Given the description of an element on the screen output the (x, y) to click on. 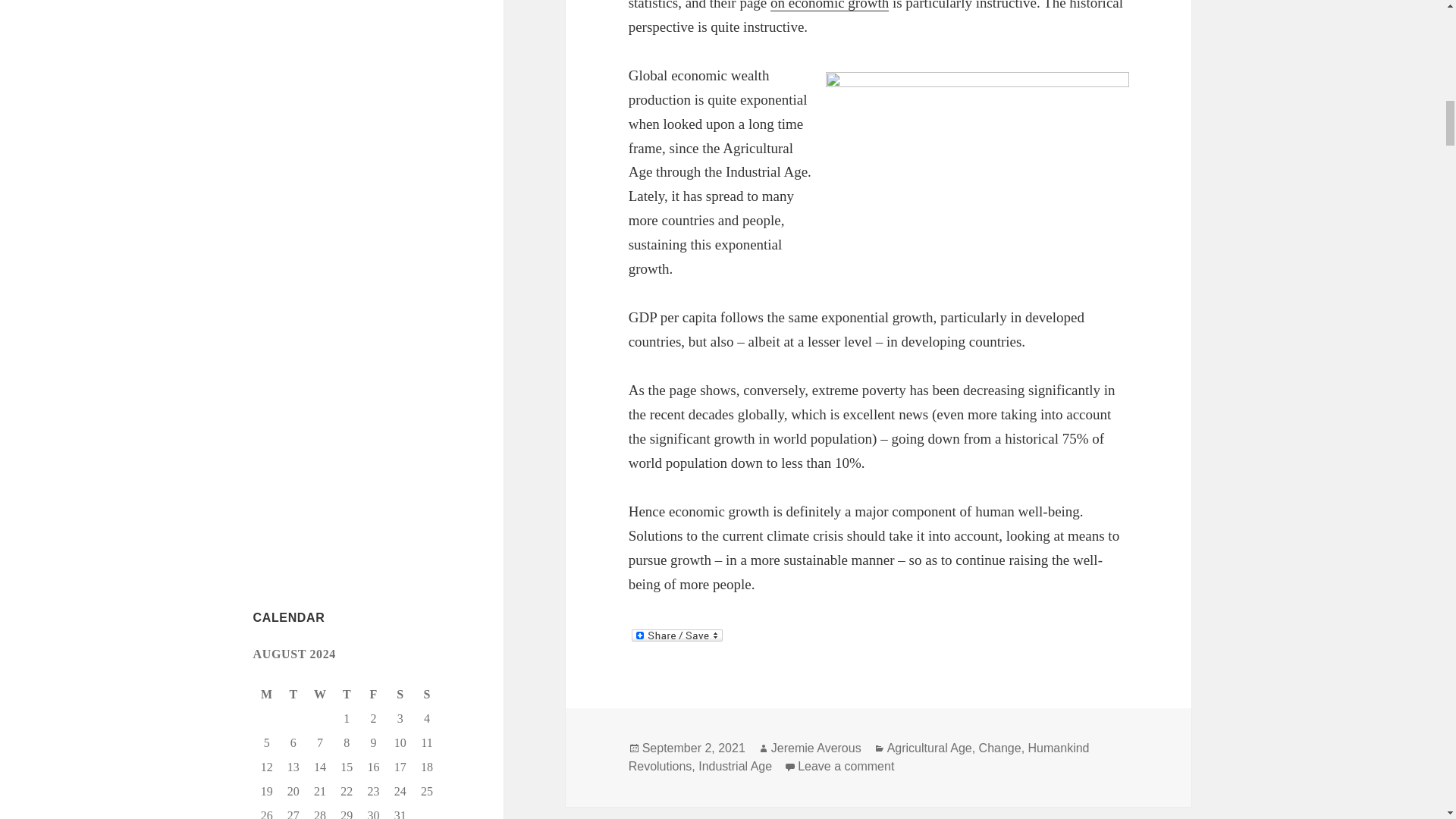
Humankind collective cognitive capability (334, 66)
K.E.E.N. (282, 216)
Friday (373, 694)
K.E.E.N. skills (318, 243)
Industrial Age (391, 130)
leadership (293, 275)
Saturday (400, 694)
Tuesday (294, 694)
Thursday (346, 694)
Guest Post (270, 31)
